Given the description of an element on the screen output the (x, y) to click on. 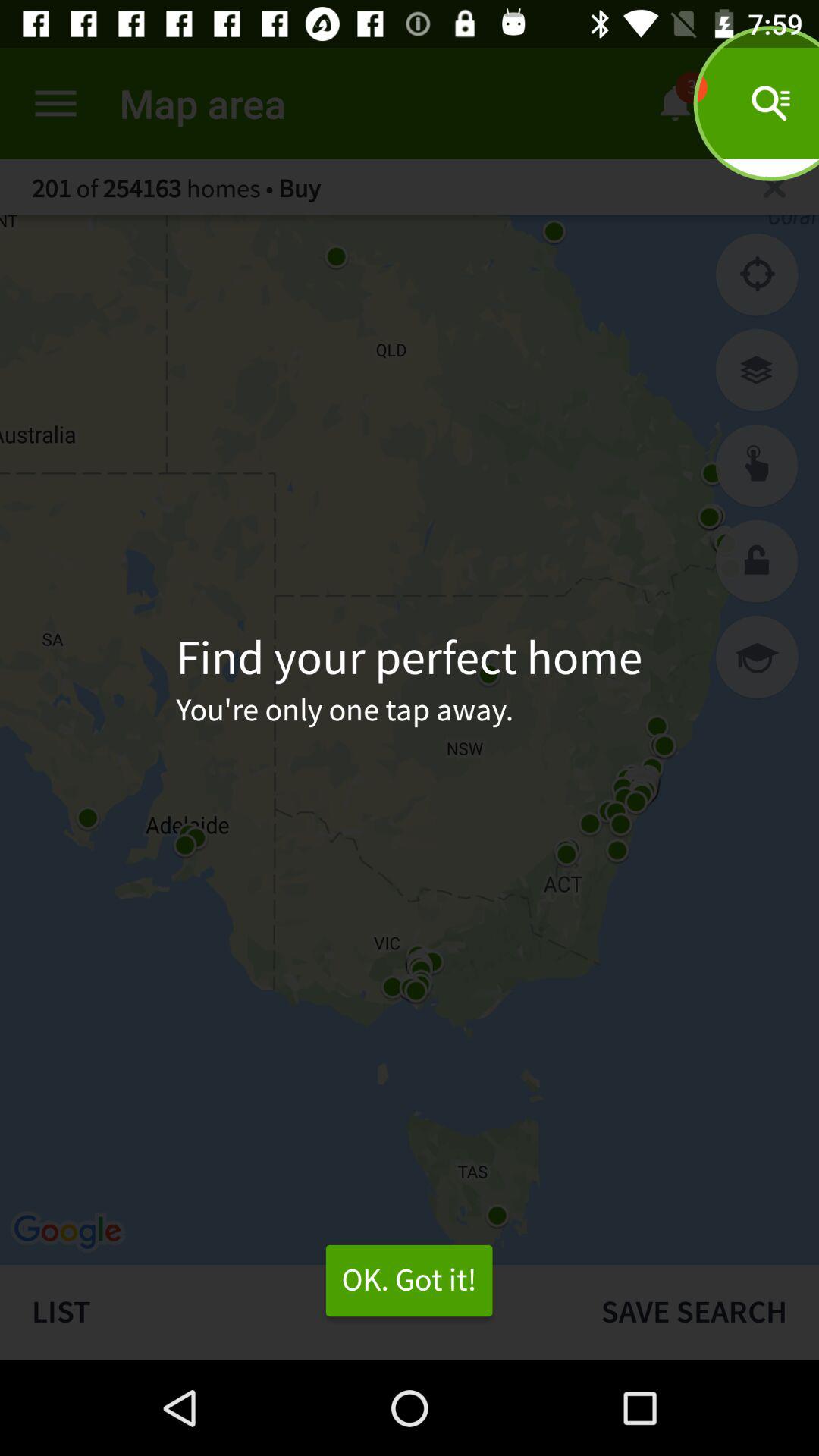
unlock (756, 561)
